Given the description of an element on the screen output the (x, y) to click on. 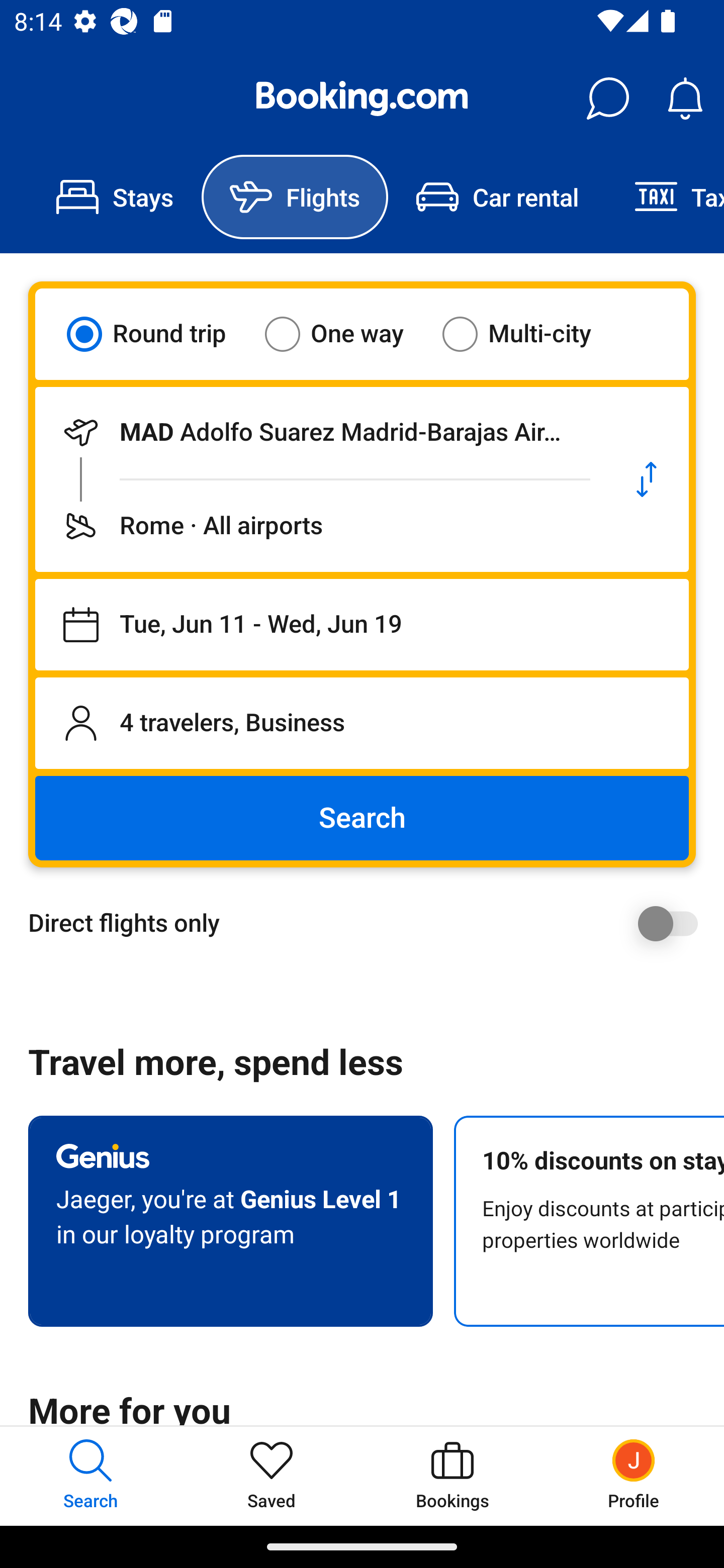
Messages (607, 98)
Notifications (685, 98)
Stays (114, 197)
Flights (294, 197)
Car rental (497, 197)
Taxi (665, 197)
One way (346, 333)
Multi-city (528, 333)
Swap departure location and destination (646, 479)
Flying to Rome · All airports (319, 525)
Departing on Tue, Jun 11, returning on Wed, Jun 19 (361, 624)
4 travelers, Business (361, 722)
Search (361, 818)
Direct flights only (369, 923)
Saved (271, 1475)
Bookings (452, 1475)
Profile (633, 1475)
